Given the description of an element on the screen output the (x, y) to click on. 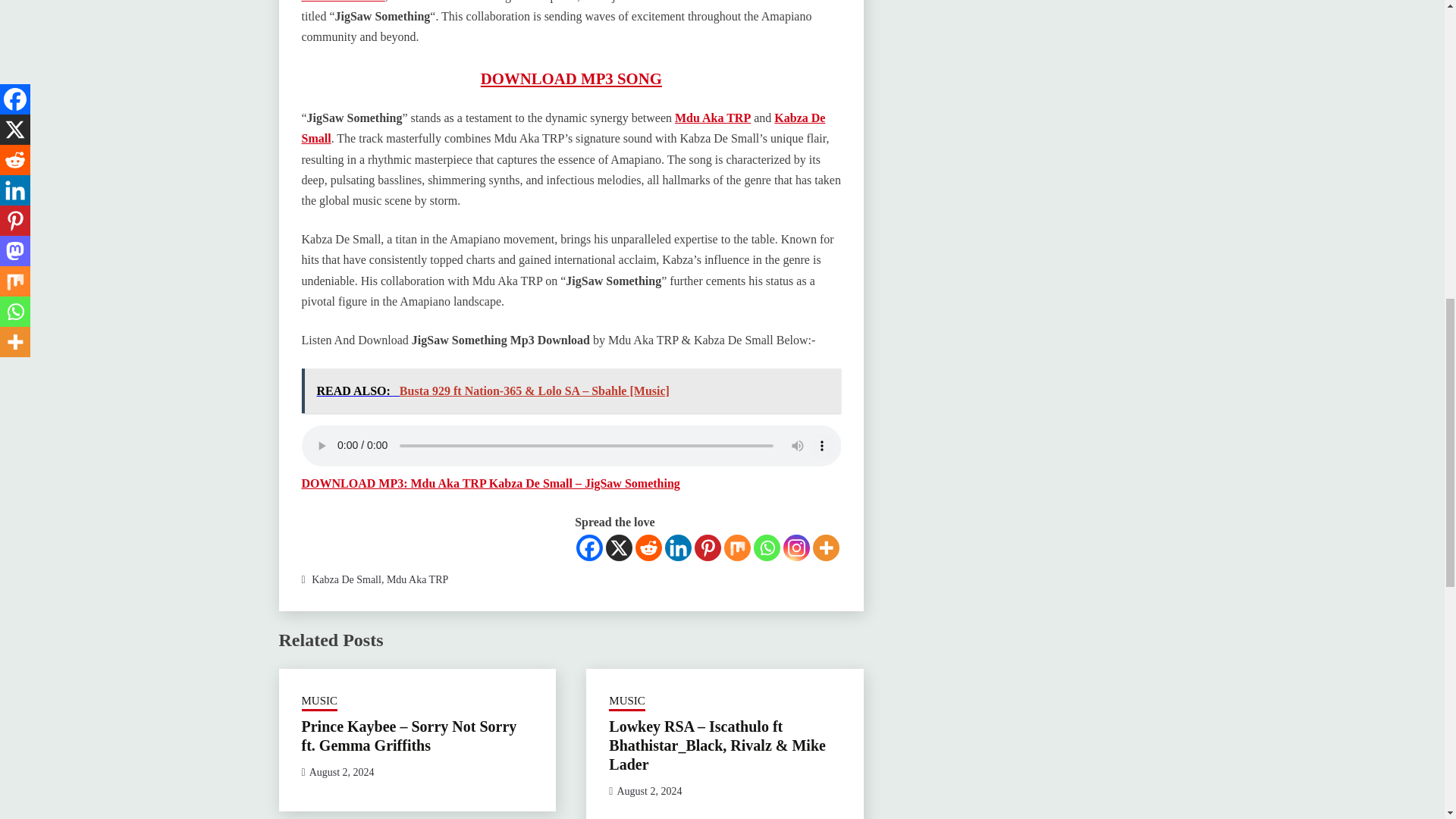
Kabza De Small (343, 1)
DOWNLOAD MP3 SONG (571, 77)
Pinterest (707, 547)
X (618, 547)
Mix (737, 547)
Instagram (796, 547)
Mdu Aka TRP (713, 117)
Reddit (648, 547)
Whatsapp (767, 547)
More (826, 547)
Kabza De Small (563, 127)
Linkedin (678, 547)
Facebook (589, 547)
